Given the description of an element on the screen output the (x, y) to click on. 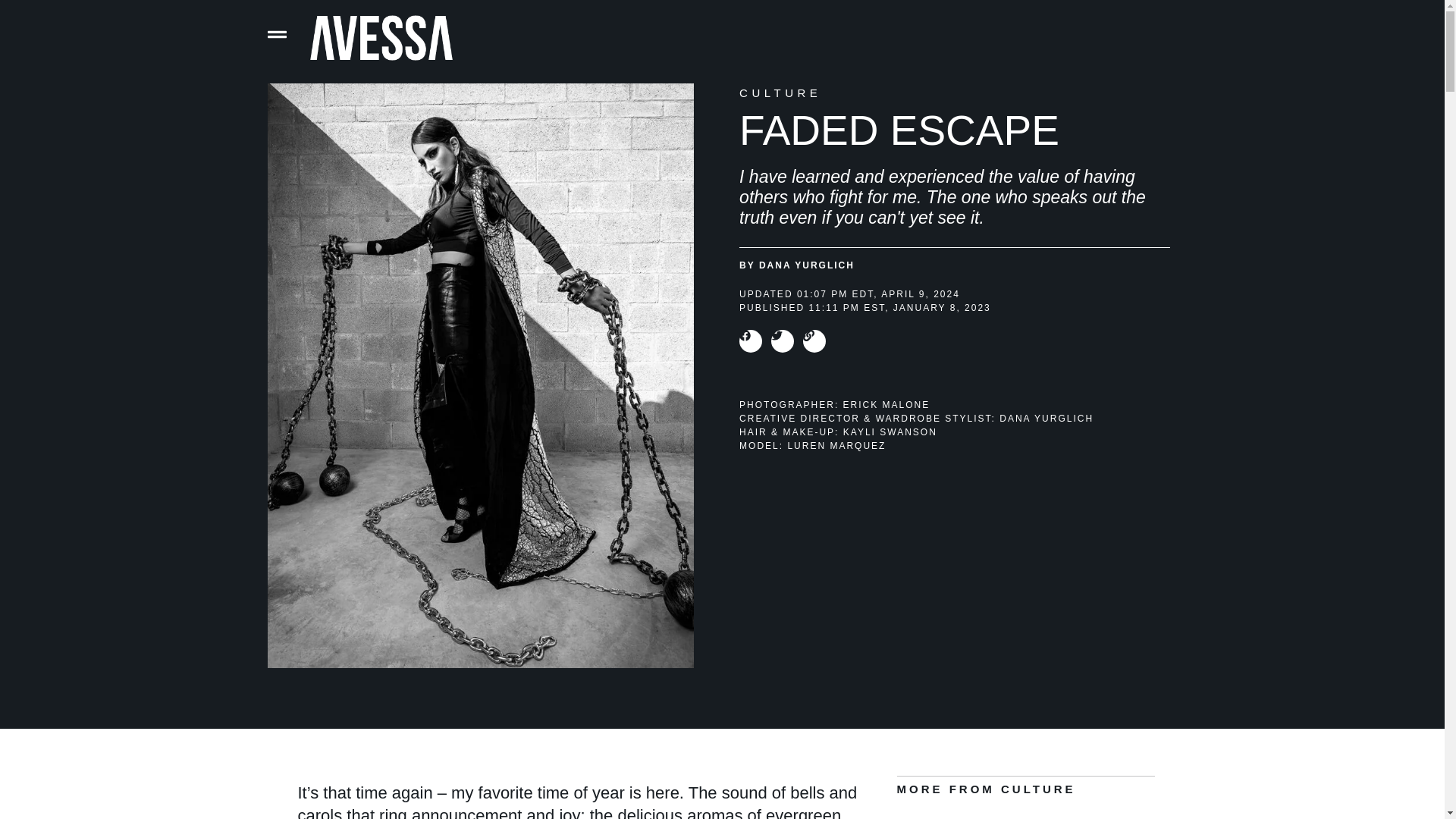
Twitter (782, 341)
Link (814, 341)
CULTURE (1038, 788)
CULTURE (780, 92)
Facebook (750, 341)
